Given the description of an element on the screen output the (x, y) to click on. 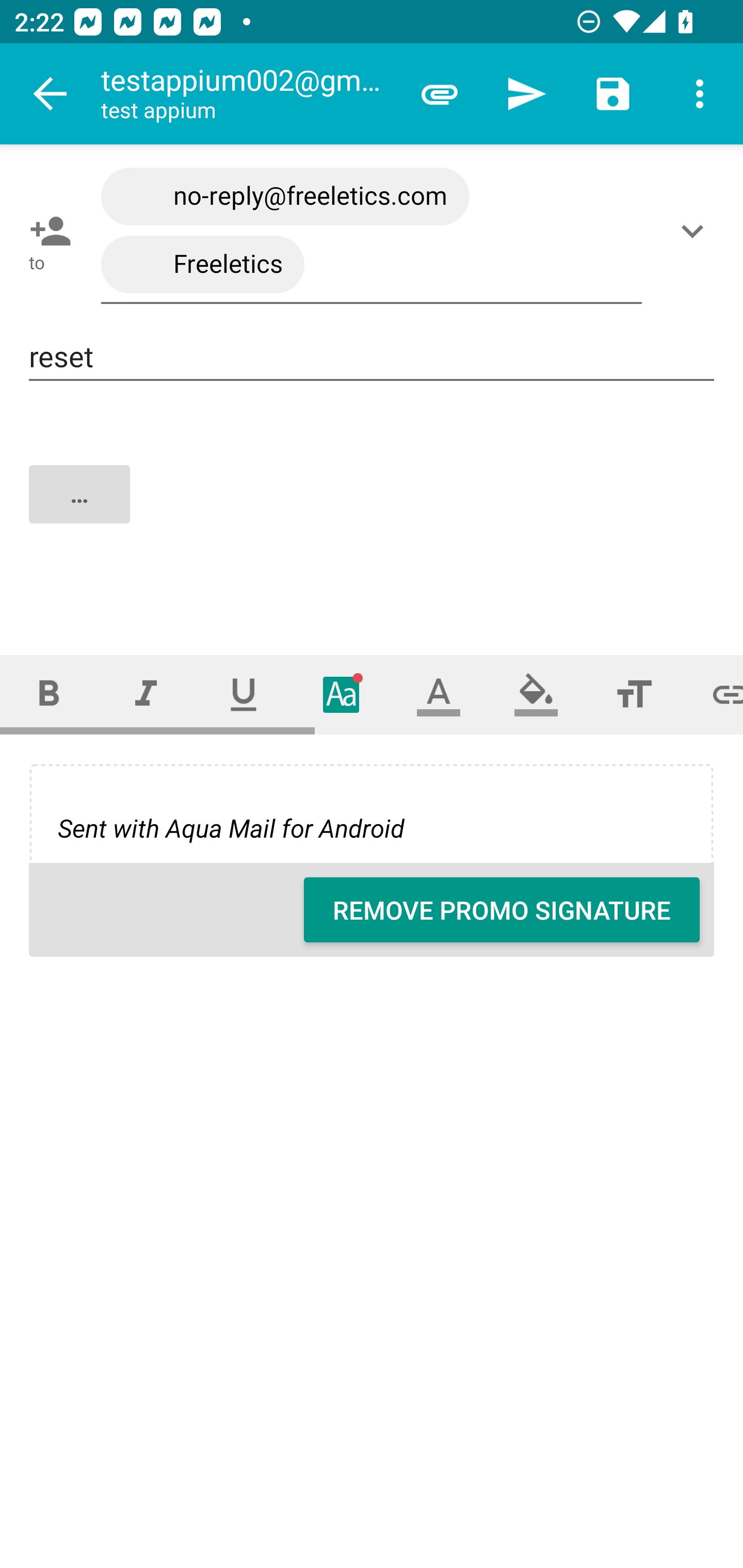
Navigate up (50, 93)
testappium002@gmail.com test appium (248, 93)
Attach (439, 93)
Send (525, 93)
Save (612, 93)
More options (699, 93)
Pick contact: To (46, 231)
Show/Add CC/BCC (696, 231)
reset (371, 356)

…
 (372, 511)
Bold (48, 694)
Italic (145, 694)
Underline (243, 694)
Typeface (font) (341, 694)
Text color (438, 694)
Fill color (536, 694)
Font size (633, 694)
REMOVE PROMO SIGNATURE (501, 910)
